Given the description of an element on the screen output the (x, y) to click on. 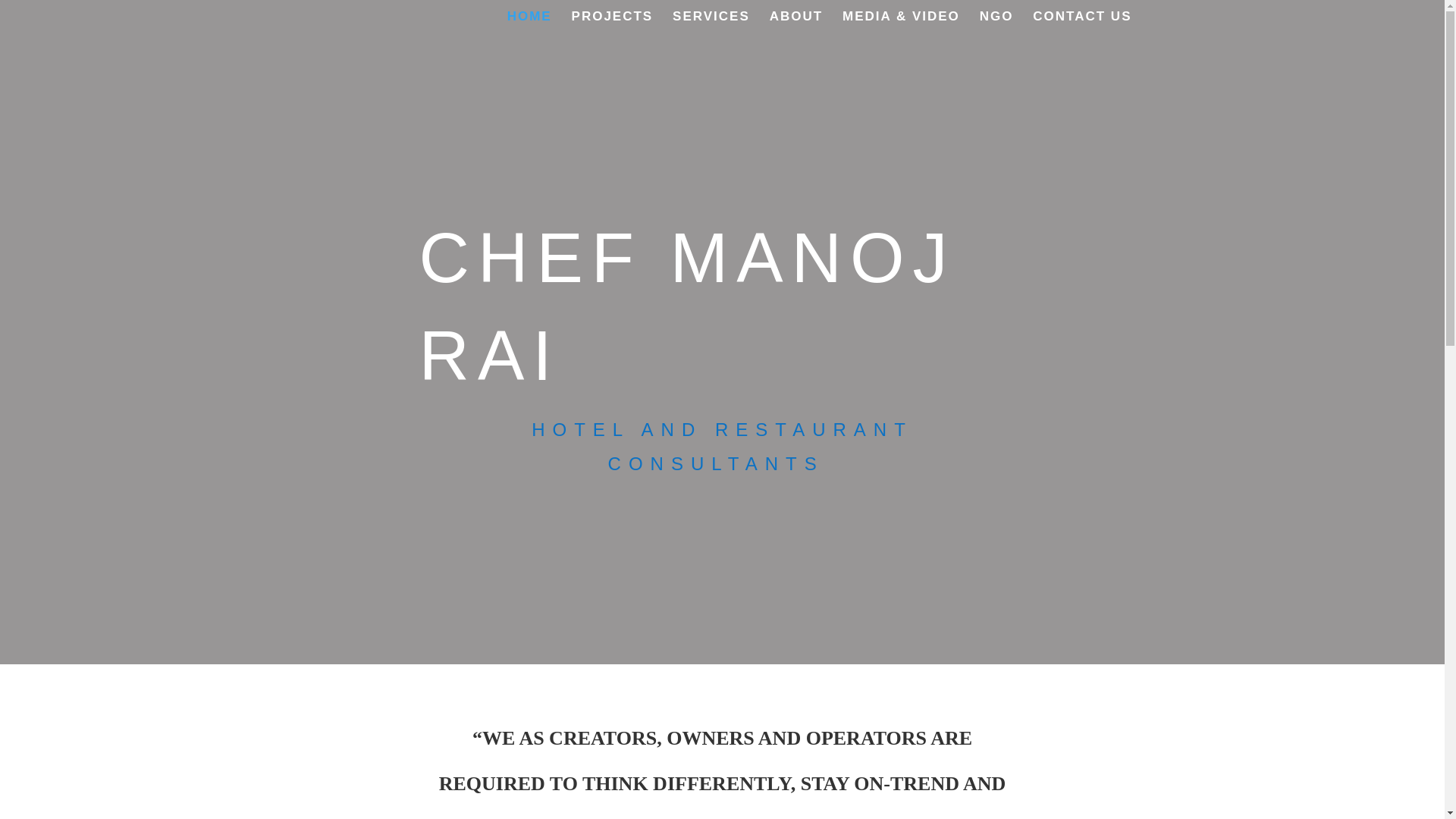
PROJECTS (612, 22)
CONTACT US (1081, 22)
NGO (996, 22)
ABOUT (796, 22)
SERVICES (710, 22)
HOME (528, 22)
